Given the description of an element on the screen output the (x, y) to click on. 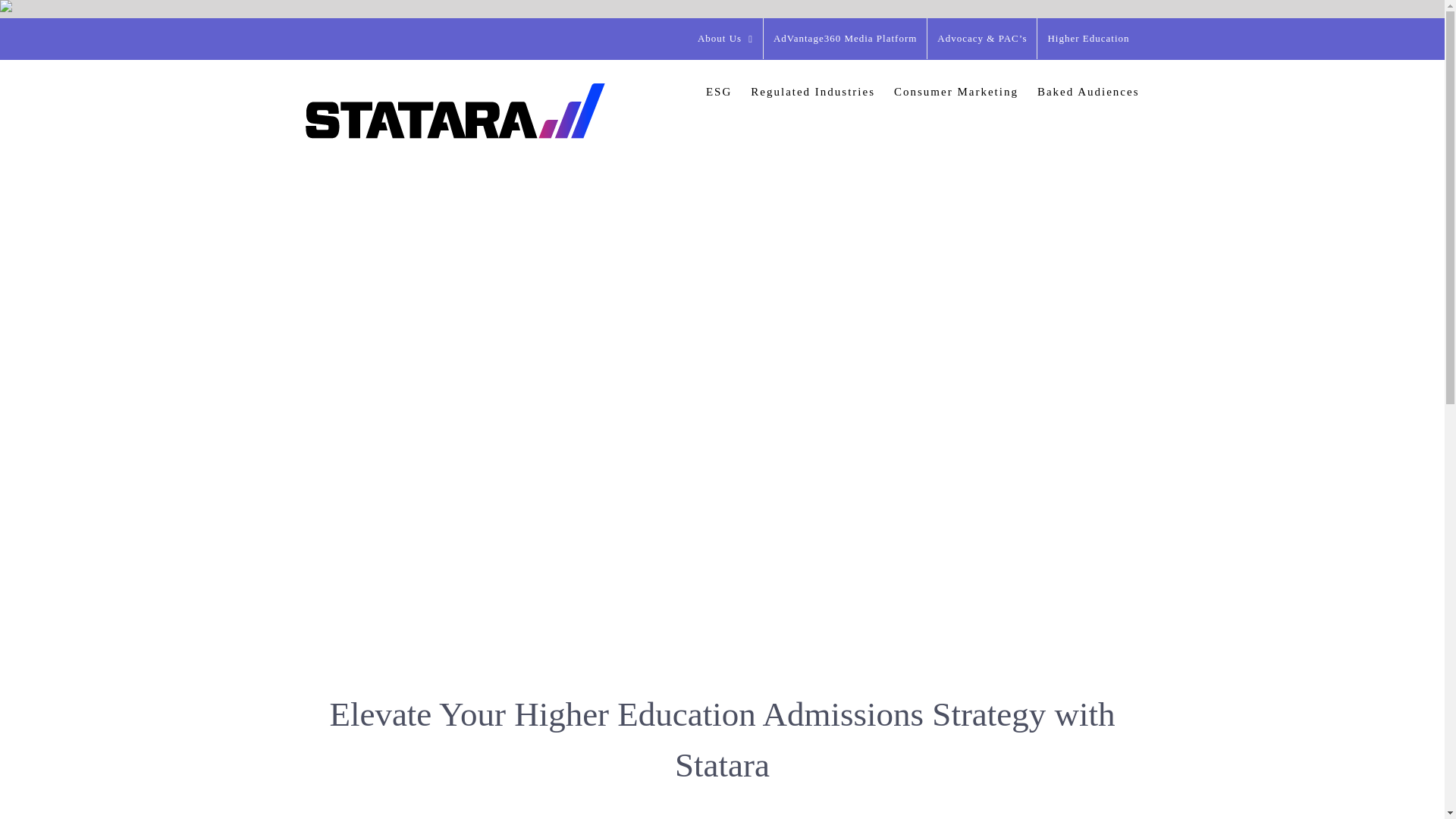
Regulated Industries (813, 91)
Baked Audiences (1088, 91)
About Us (724, 38)
AdVantage360 Media Platform (844, 38)
Higher Education (1087, 38)
Consumer Marketing (955, 91)
